Given the description of an element on the screen output the (x, y) to click on. 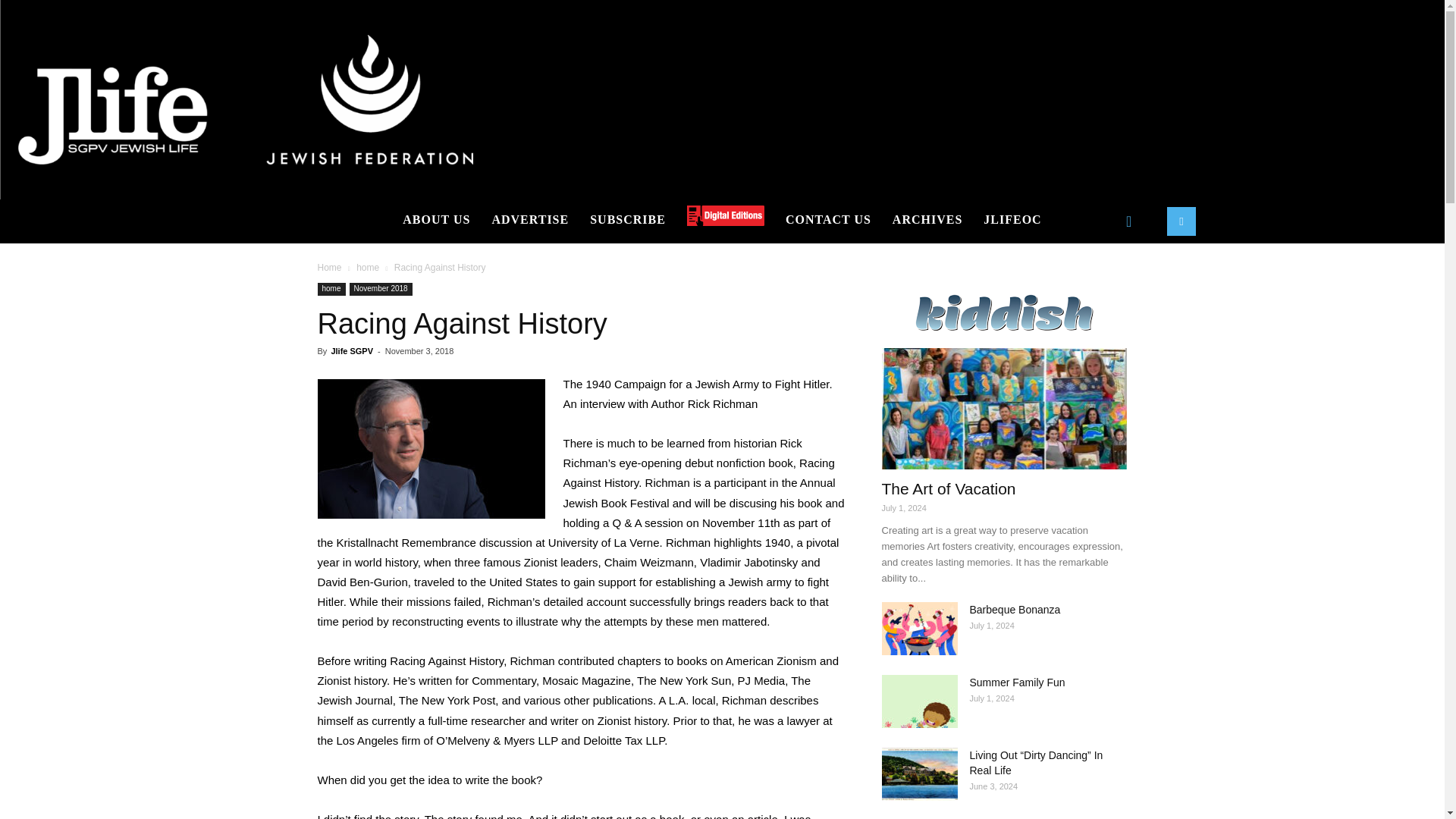
home (331, 288)
Jlife SGPV Logo (245, 99)
JLIFEOC (1011, 219)
SUBSCRIBE (628, 219)
ABOUT US (435, 219)
The Art of Vacation (1003, 408)
Home (328, 267)
View all posts in home (367, 267)
ADVERTISE (529, 219)
CONTACT US (828, 219)
Jlife SGPV (351, 350)
November 2018 (380, 288)
ARCHIVES (927, 219)
home (367, 267)
